Given the description of an element on the screen output the (x, y) to click on. 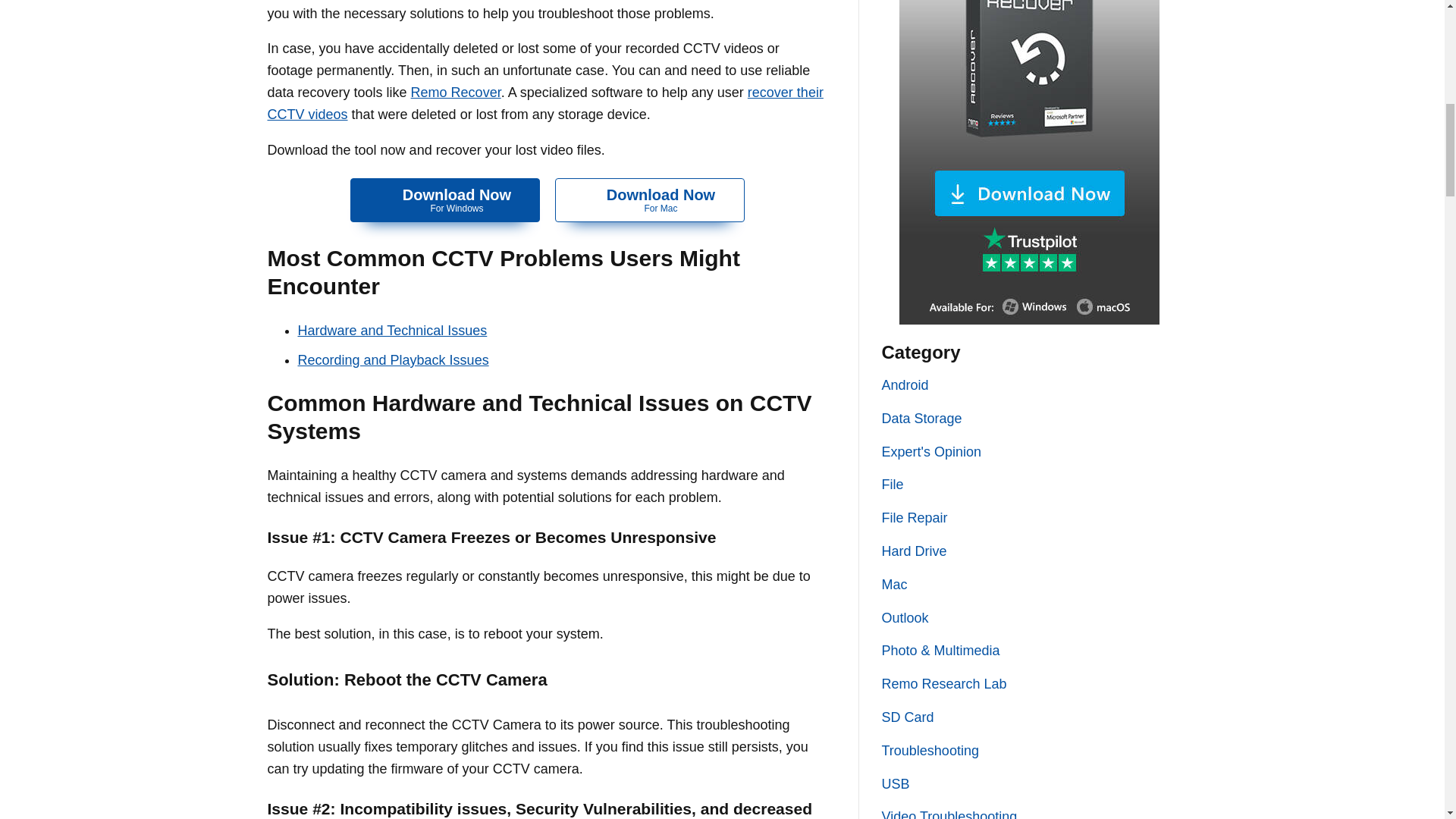
Outlook (904, 617)
Mac (649, 199)
File (893, 584)
Expert's Opinion (891, 484)
SD Card (930, 451)
Recording and Playback Issues (906, 717)
Remo Recover (392, 359)
File Repair (455, 92)
Troubleshooting (913, 517)
Hardware and Technical Issues (929, 750)
Android (391, 330)
Remo Research Lab (445, 199)
Data Storage (904, 385)
